Given the description of an element on the screen output the (x, y) to click on. 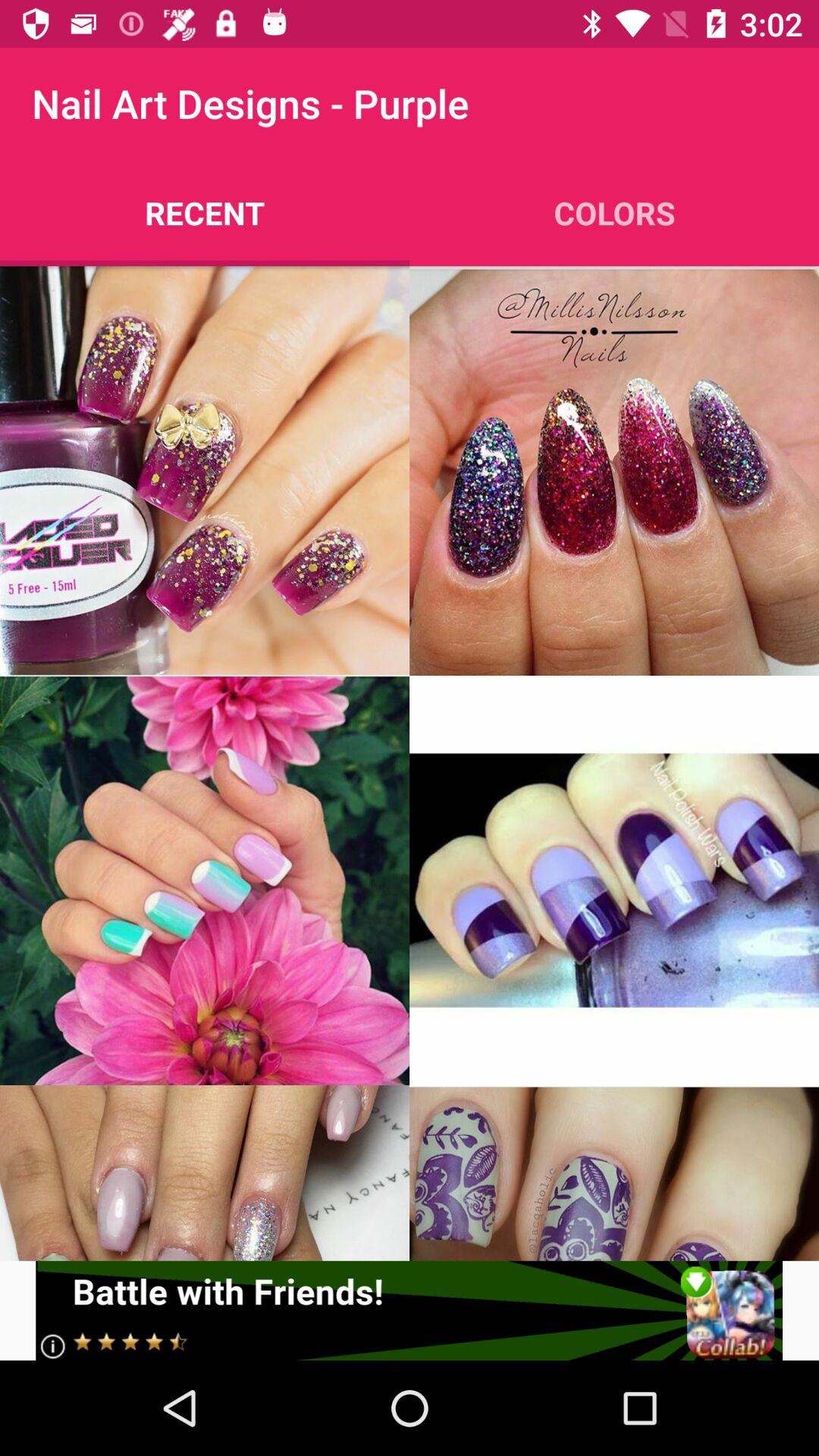
advertising (408, 1310)
